Given the description of an element on the screen output the (x, y) to click on. 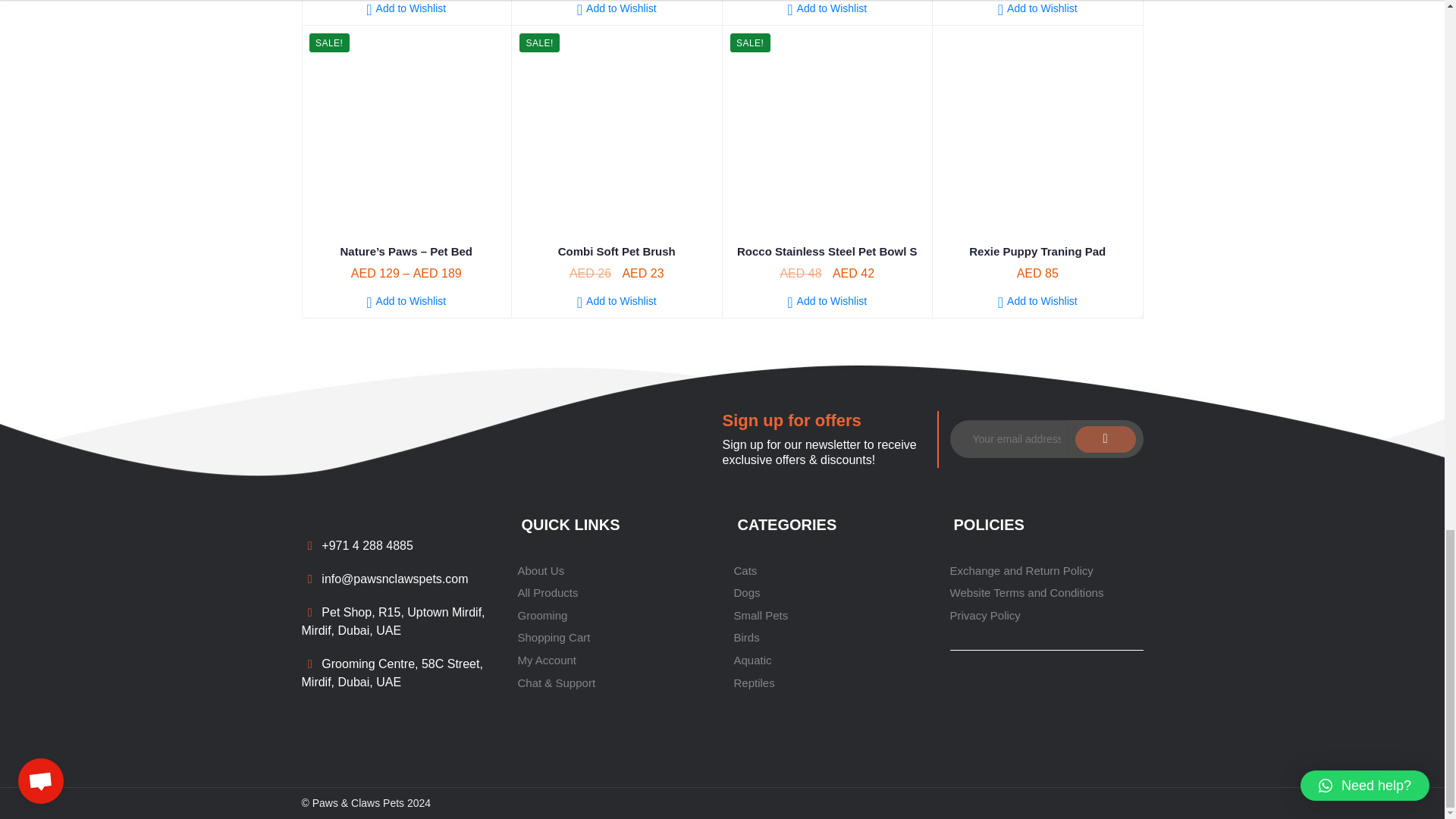
SUBSCRIBE (1105, 438)
